Given the description of an element on the screen output the (x, y) to click on. 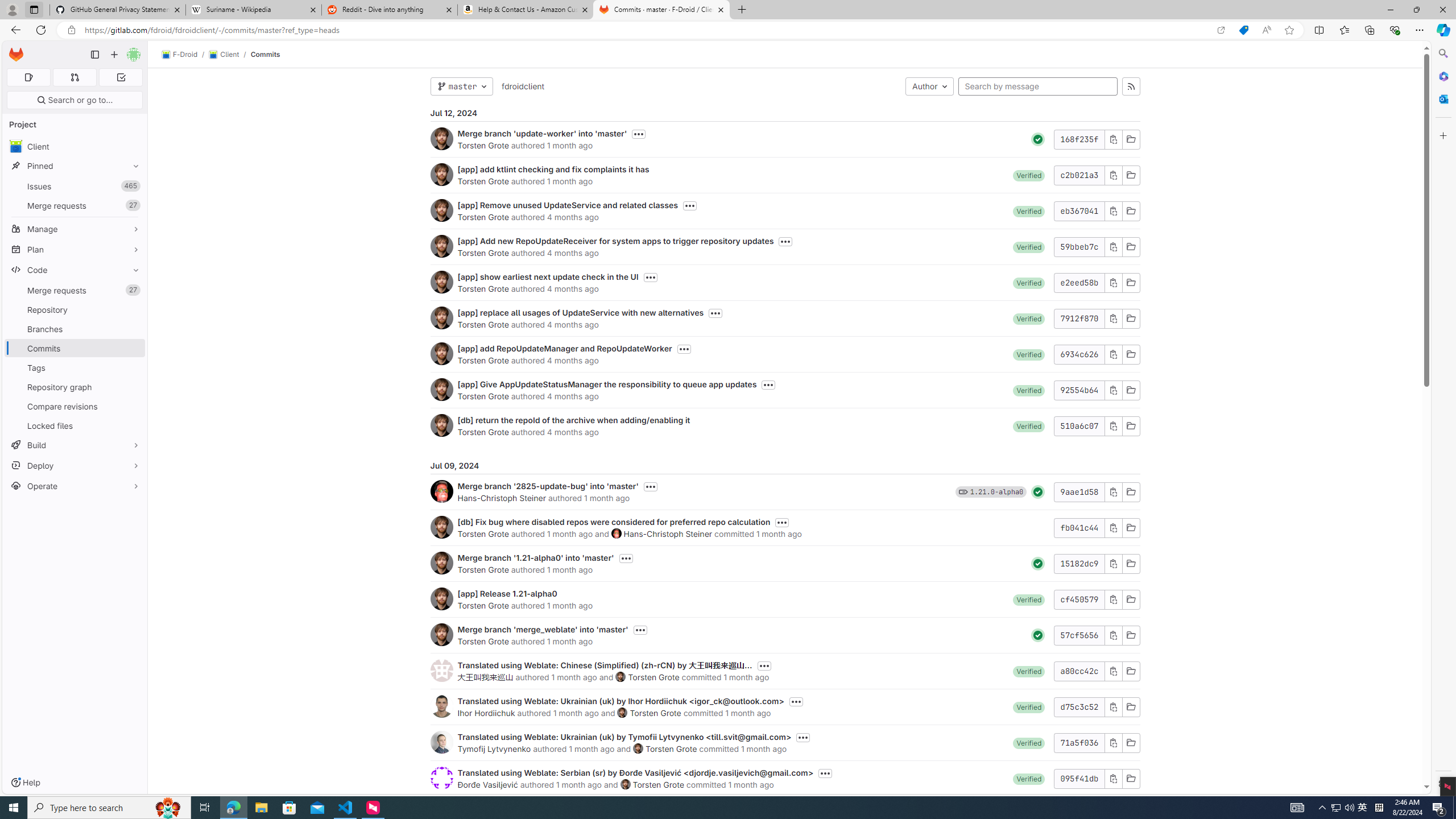
fdroidclient (522, 85)
Unpin Issues (132, 186)
avatar Client (74, 145)
Settings and more (Alt+F) (1419, 29)
Help & Contact Us - Amazon Customer Service (525, 9)
Pin Compare revisions (132, 406)
Repository graph (74, 386)
Browser essentials (1394, 29)
Class: s16 gl-icon gl-button-icon  (1113, 777)
